Given the description of an element on the screen output the (x, y) to click on. 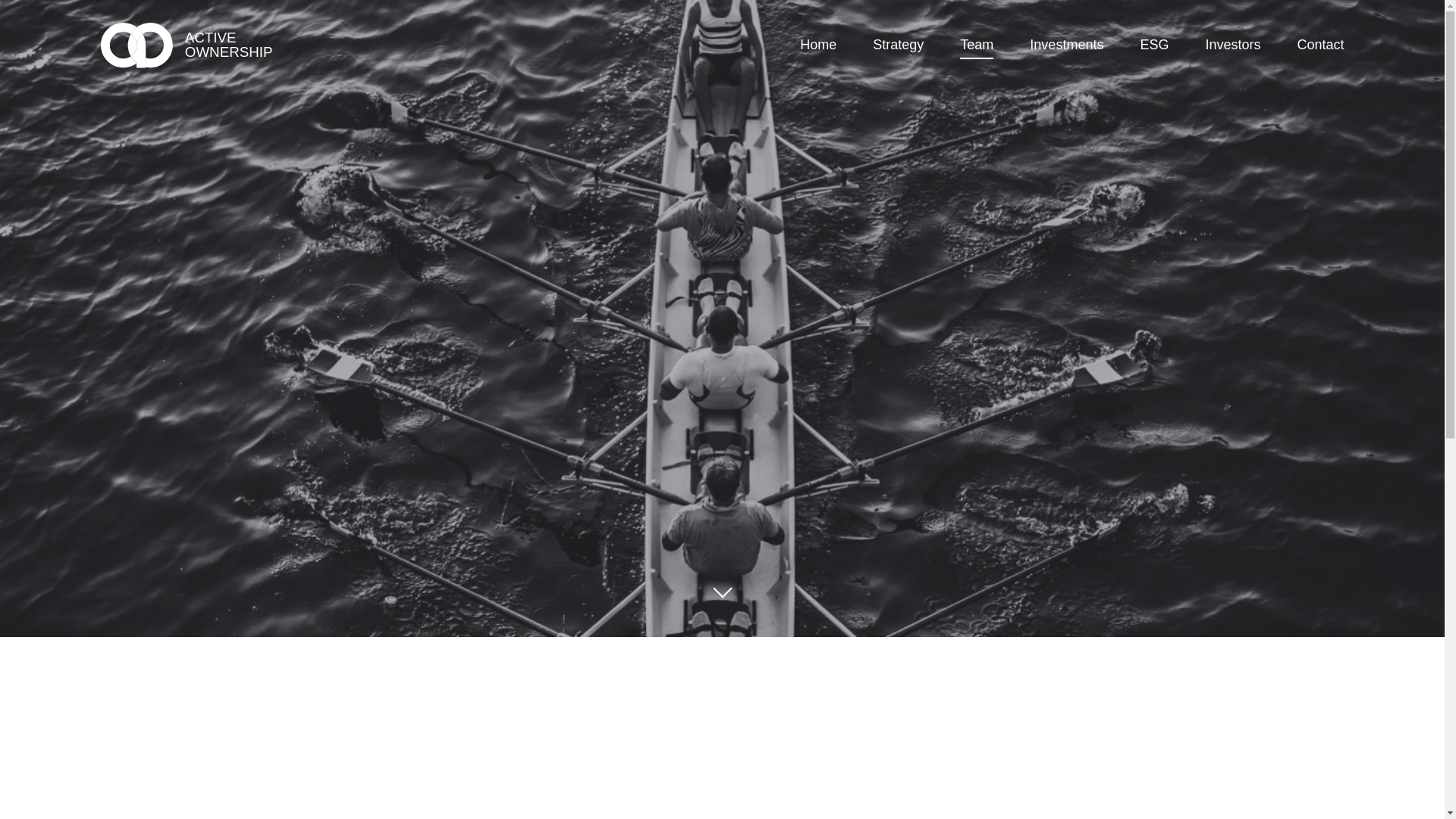
Investments (1066, 45)
ACTIVE OWNERSHIP (193, 45)
Strategy (898, 45)
Investors (1232, 45)
